Given the description of an element on the screen output the (x, y) to click on. 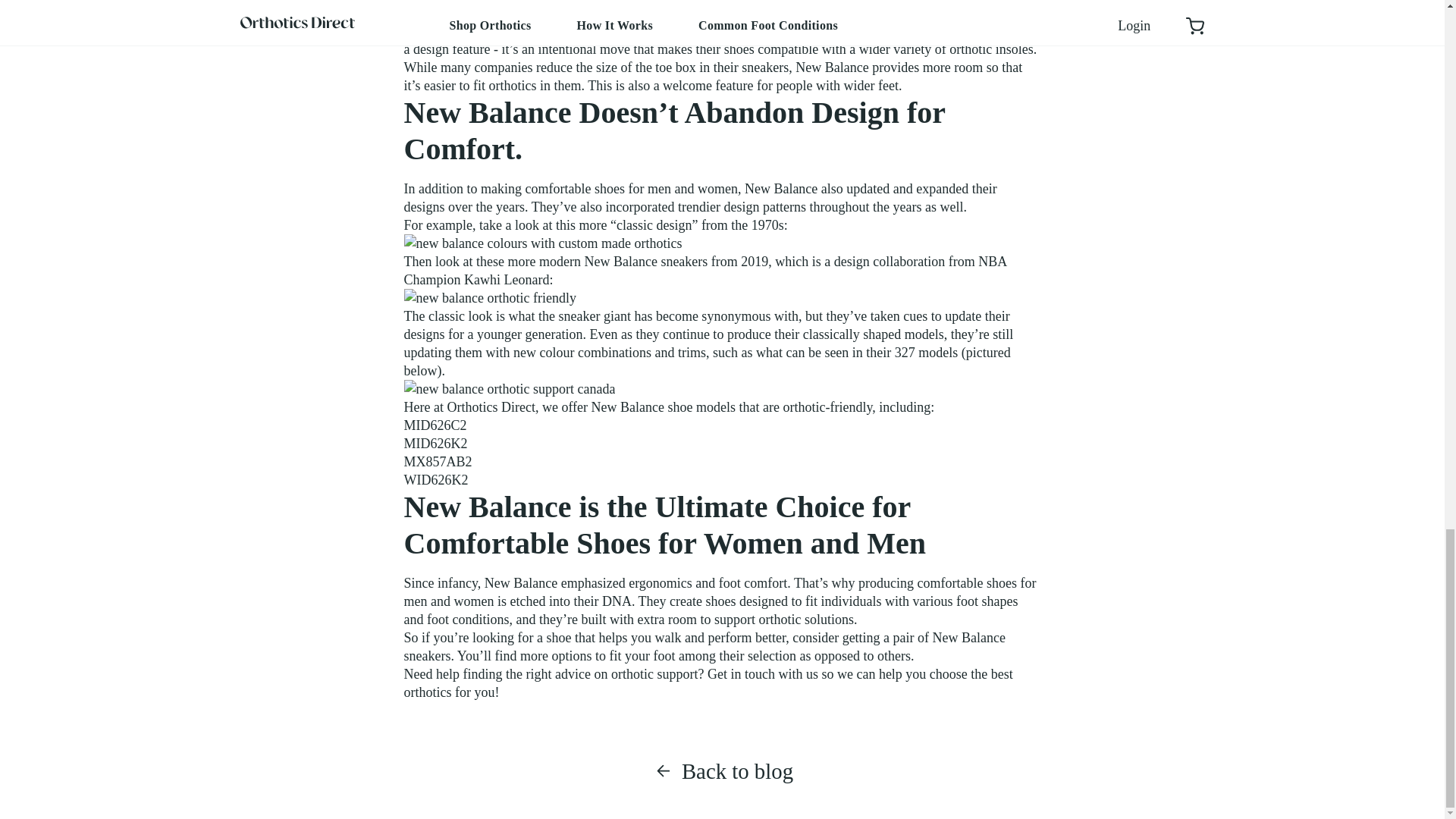
MID626K2 (435, 443)
wider toe boxes (895, 31)
Get in touch with us (762, 674)
WID626K2 (435, 479)
MX857AB2 (437, 461)
MID626C2 (434, 425)
